Given the description of an element on the screen output the (x, y) to click on. 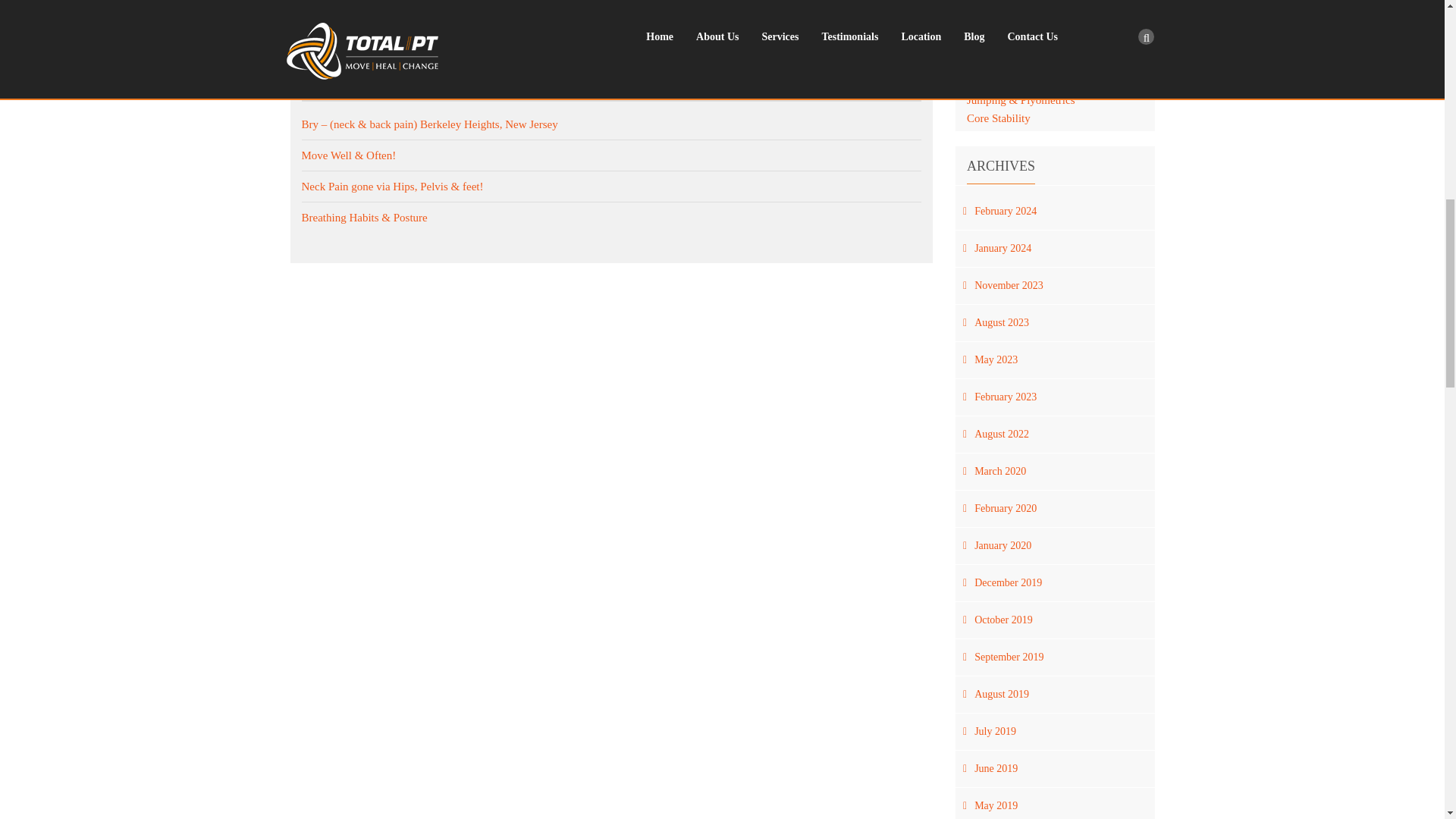
Google Plus (885, 13)
Pinterest (923, 13)
Share on Tumblr (904, 13)
Share on Twitter (846, 13)
Share on Linkedin (866, 13)
Share on Facebook (827, 13)
